Given the description of an element on the screen output the (x, y) to click on. 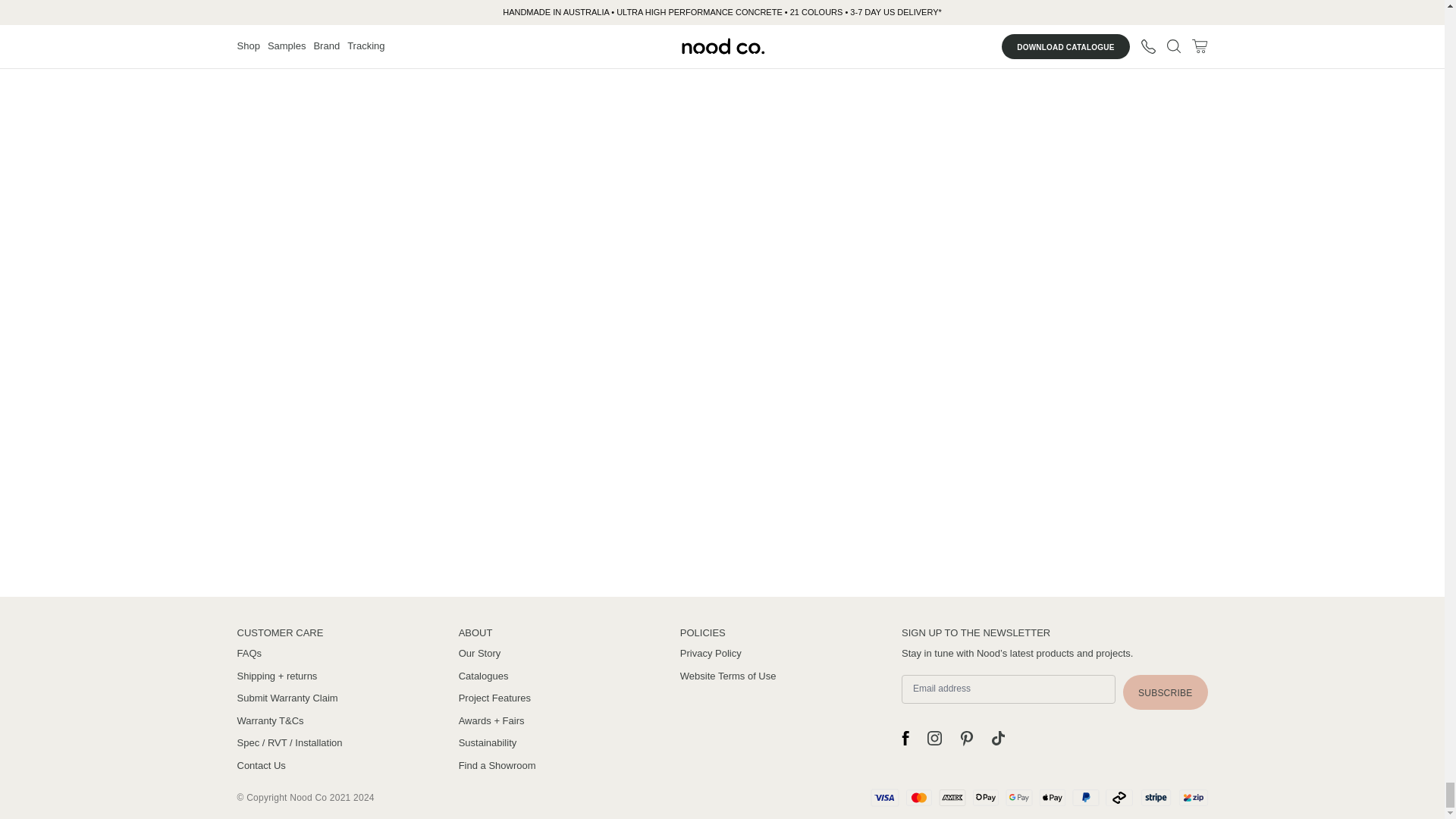
Nood Co on Instagram (934, 738)
Nood Co on Pinterest (966, 738)
